Given the description of an element on the screen output the (x, y) to click on. 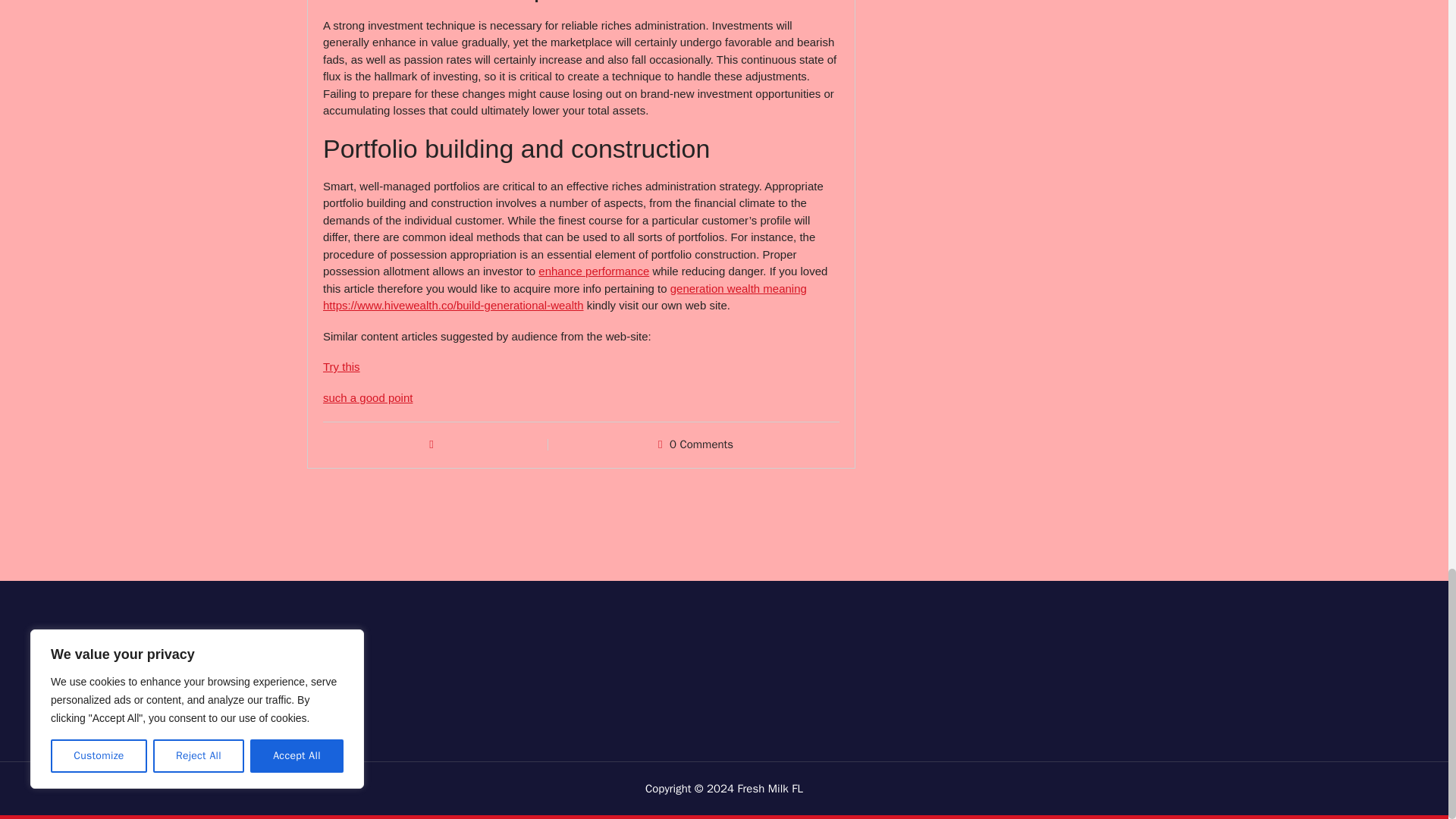
Try this (341, 366)
such a good point (367, 397)
enhance performance (593, 270)
